Given the description of an element on the screen output the (x, y) to click on. 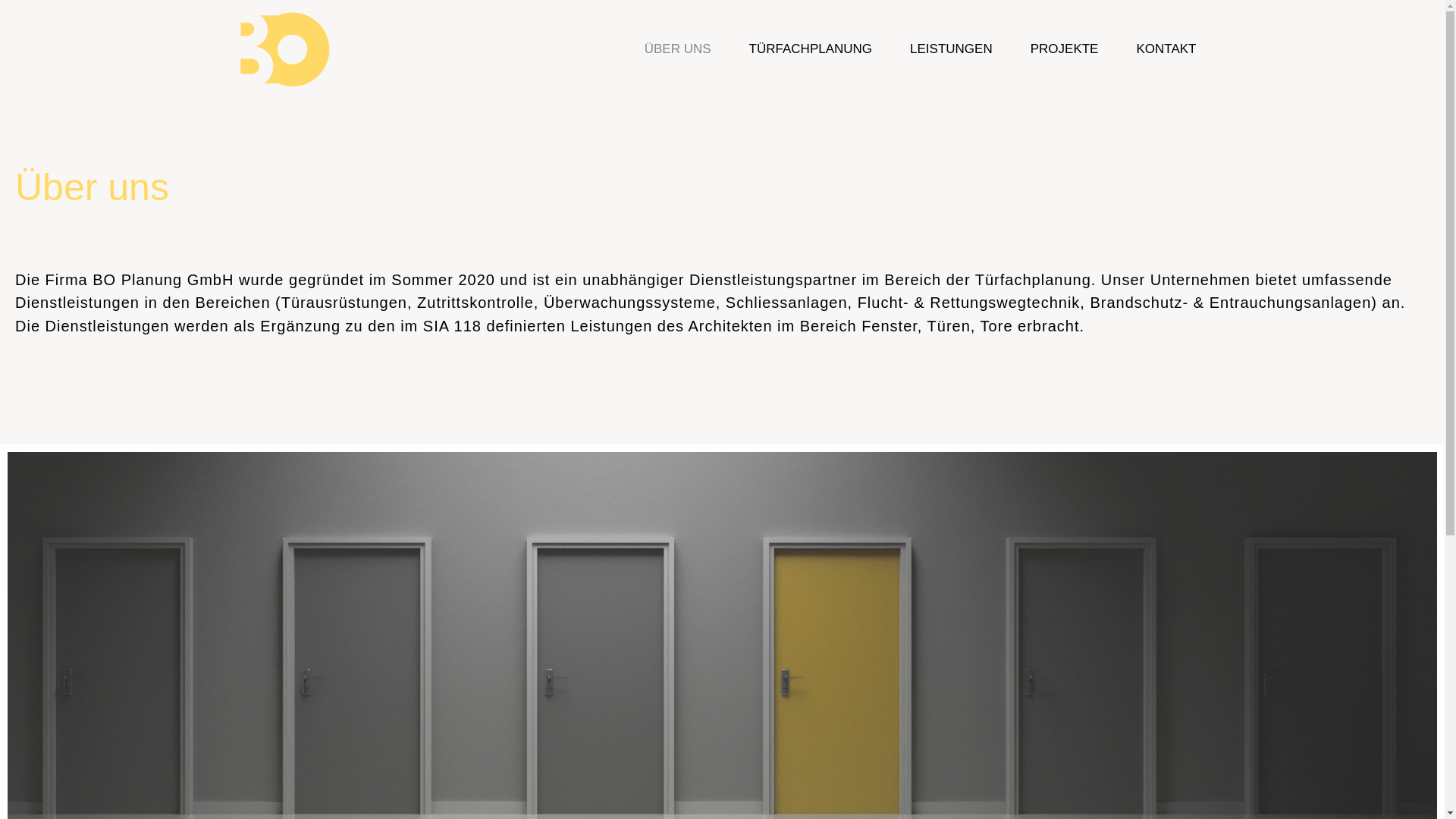
LEISTUNGEN Element type: text (951, 49)
PROJEKTE Element type: text (1064, 49)
KONTAKT Element type: text (1165, 49)
